Given the description of an element on the screen output the (x, y) to click on. 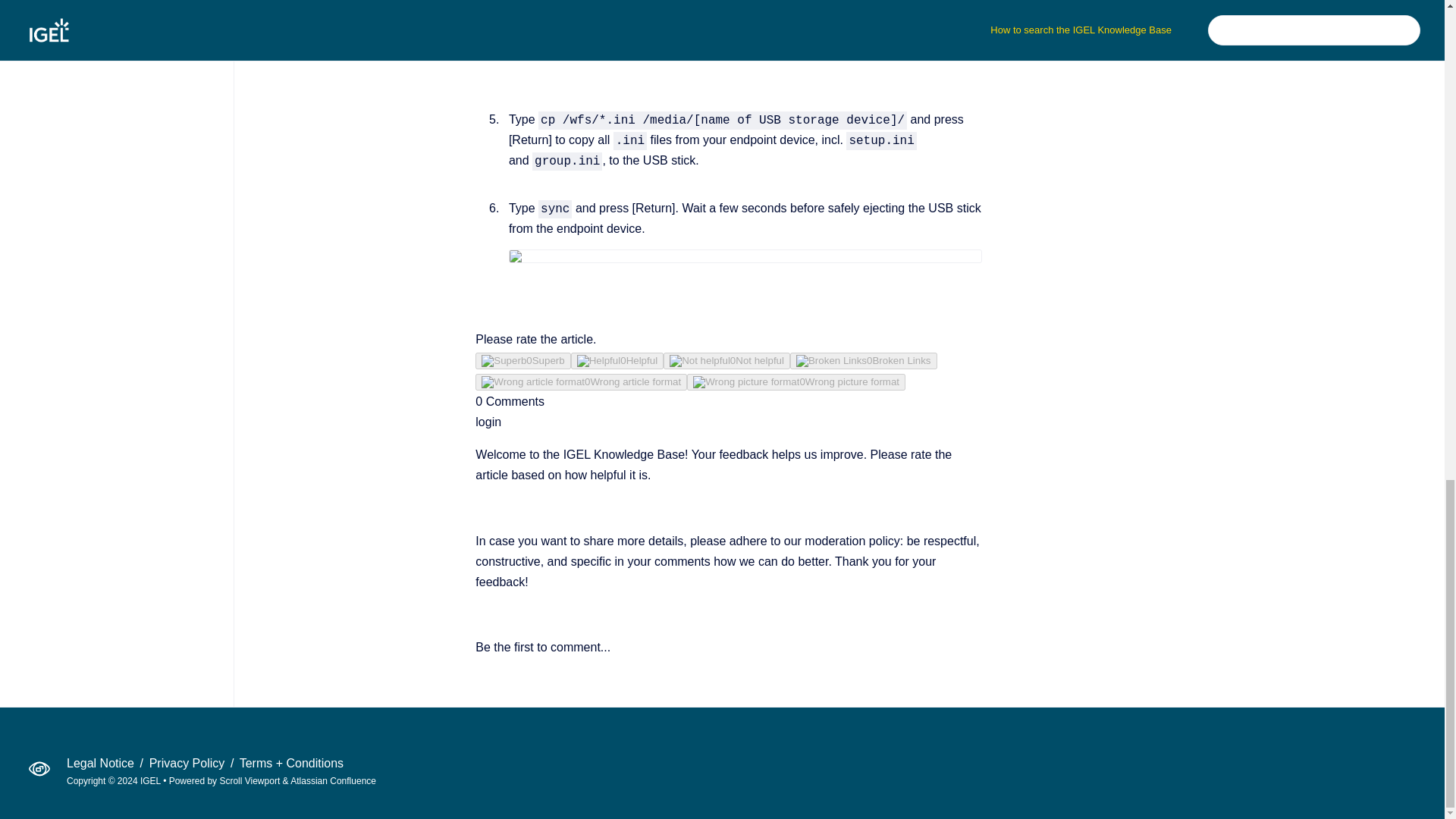
Privacy Policy (188, 762)
Legal Notice (101, 762)
Atlassian Confluence (332, 780)
Scroll Viewport (250, 780)
